Given the description of an element on the screen output the (x, y) to click on. 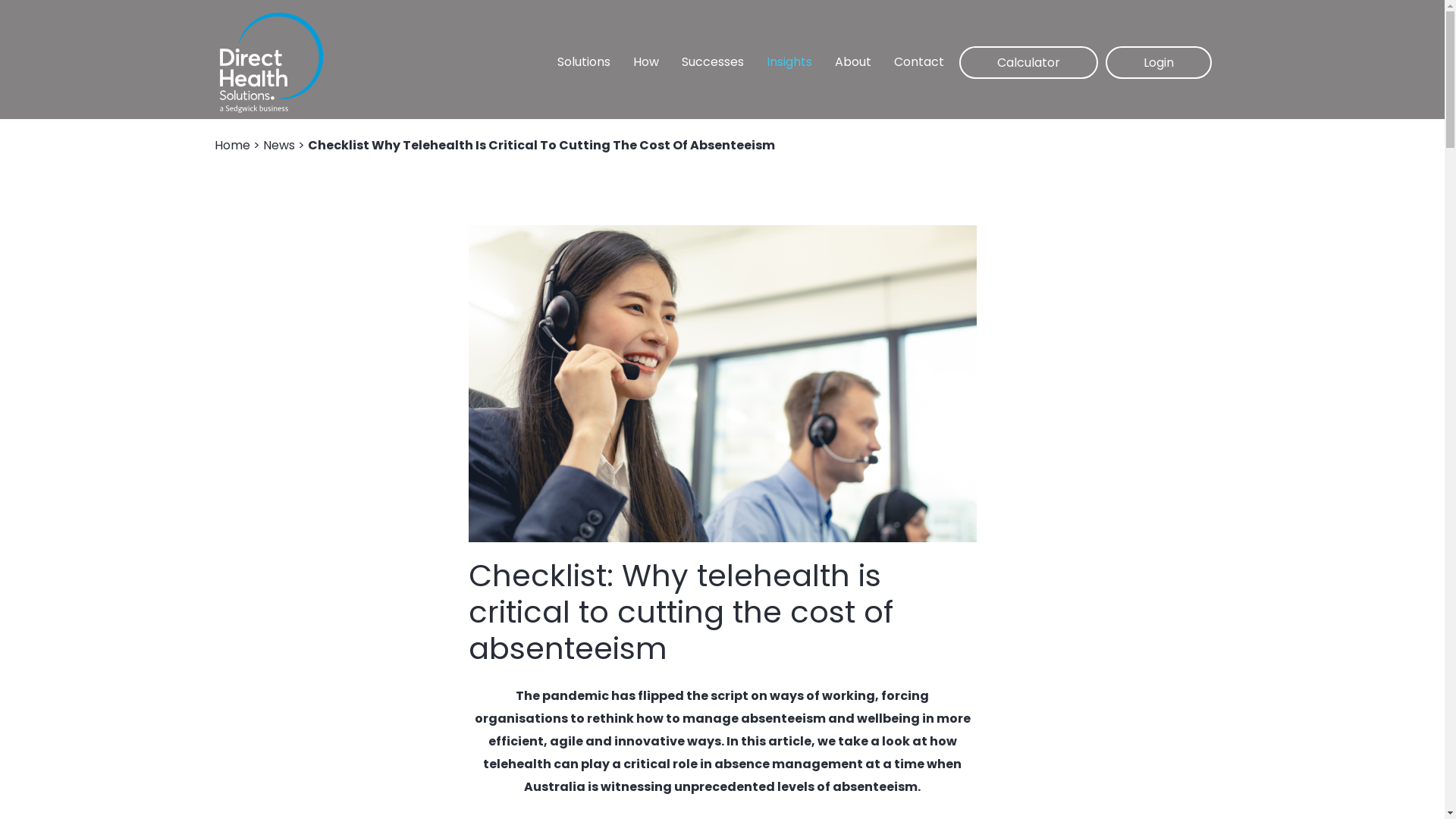
Successes Element type: text (712, 62)
Contact Element type: text (918, 62)
Insights Element type: text (789, 62)
How Element type: text (645, 62)
Solutions Element type: text (583, 62)
About Element type: text (852, 62)
Home > Element type: text (237, 144)
News Element type: text (278, 144)
Login Element type: text (1158, 62)
Calculator Element type: text (1027, 62)
